Given the description of an element on the screen output the (x, y) to click on. 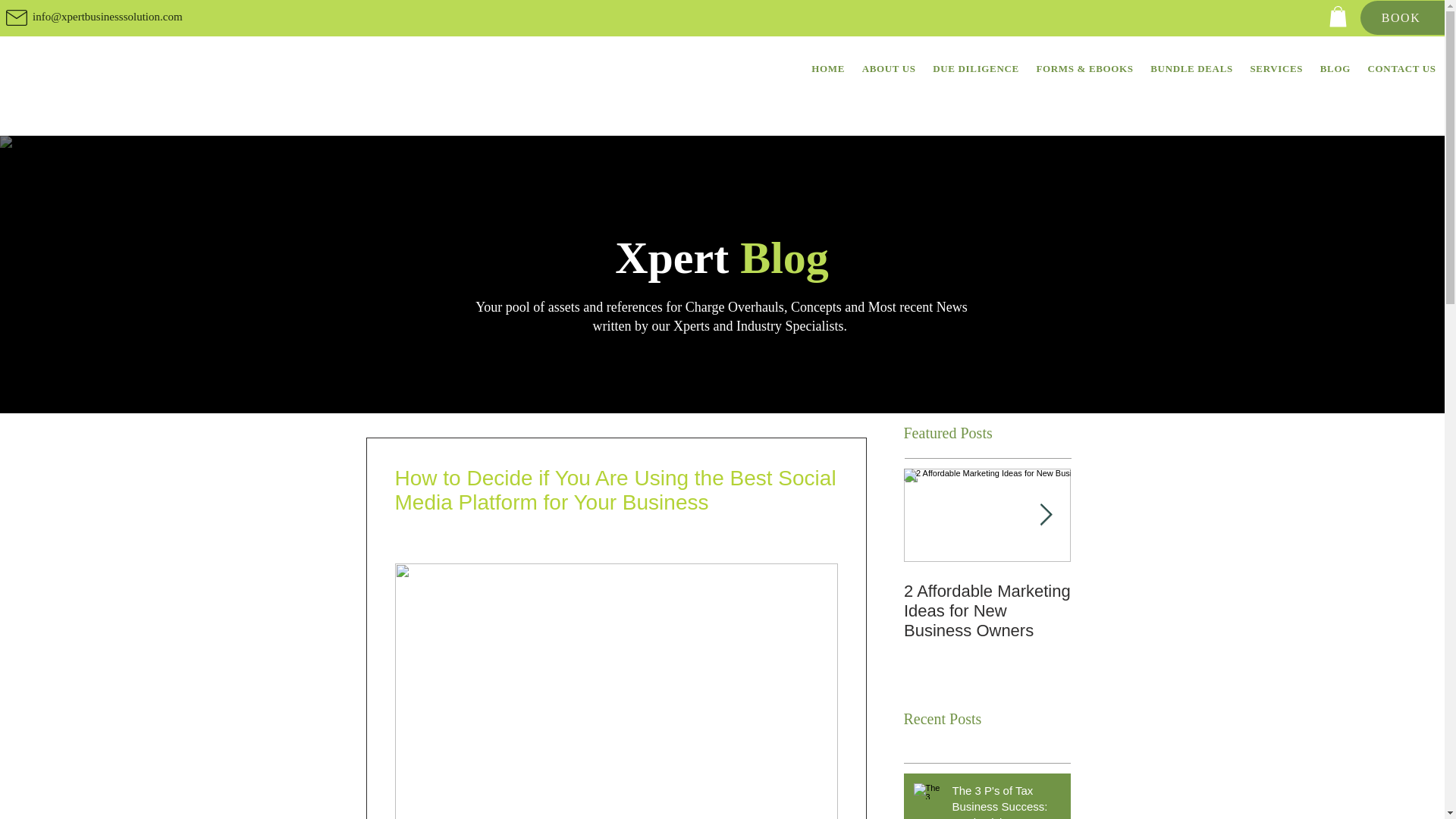
SERVICES (1276, 68)
ABOUT US (888, 68)
2 Affordable Marketing Ideas for New Business Owners (987, 610)
BUNDLE DEALS (1191, 68)
DUE DILIGENCE (975, 68)
BLOG (1335, 68)
HOME (828, 68)
